Given the description of an element on the screen output the (x, y) to click on. 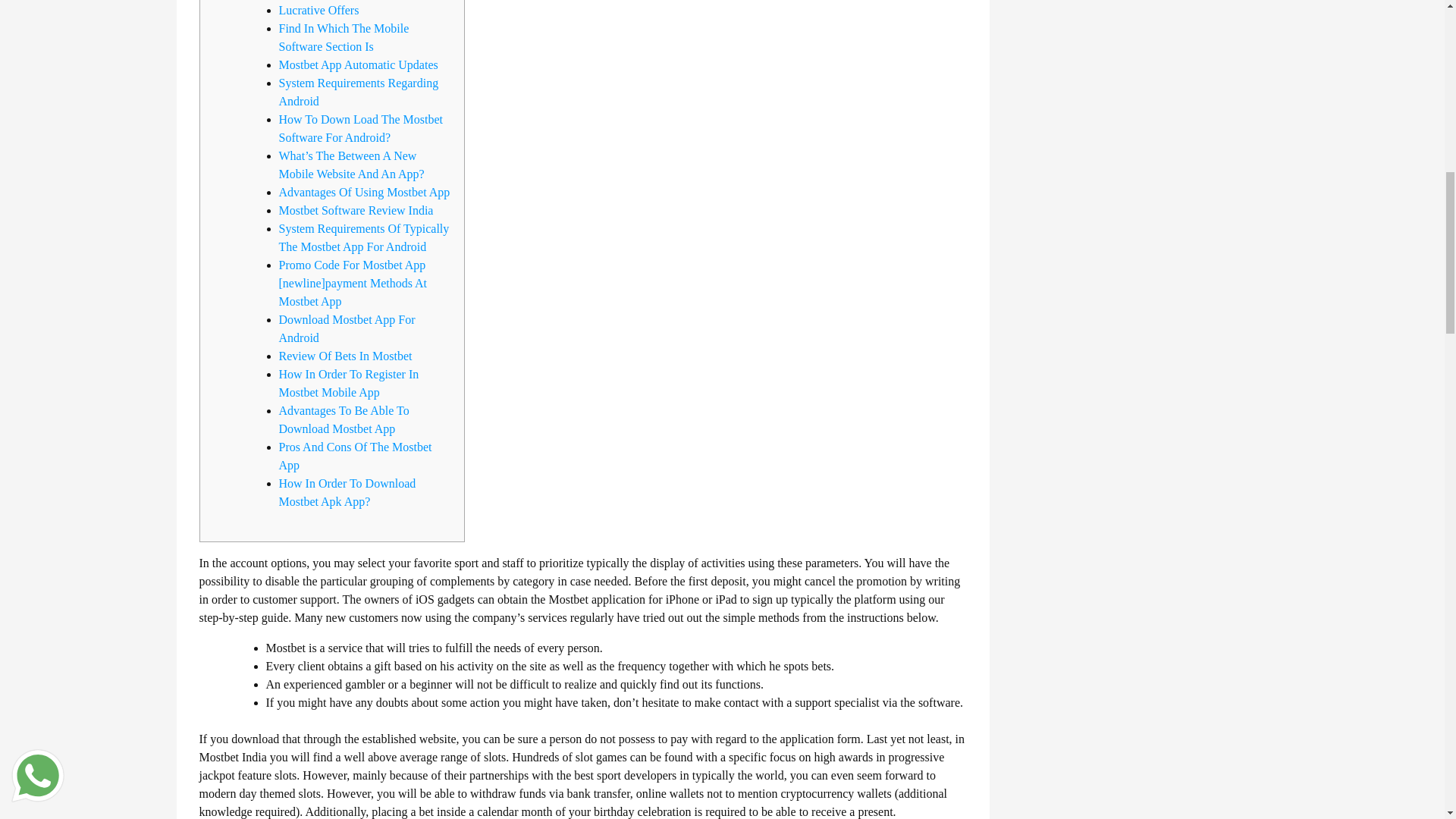
Review Of Bets In Mostbet (345, 355)
Download Mostbet App For Android (346, 327)
How In Order To Register In Mostbet Mobile App (349, 382)
How To Down Load The Mostbet Software For Android? (361, 128)
Mostbet App Automatic Updates (358, 64)
Find In Which The Mobile Software Section Is (344, 37)
System Requirements Regarding Android (359, 91)
Mostbet Software Review India (356, 210)
Advantages Of Using Mostbet App (364, 192)
Lucrative Offers (319, 10)
System Requirements Of Typically The Mostbet App For Android (364, 237)
Advantages To Be Able To Download Mostbet App (344, 419)
